Given the description of an element on the screen output the (x, y) to click on. 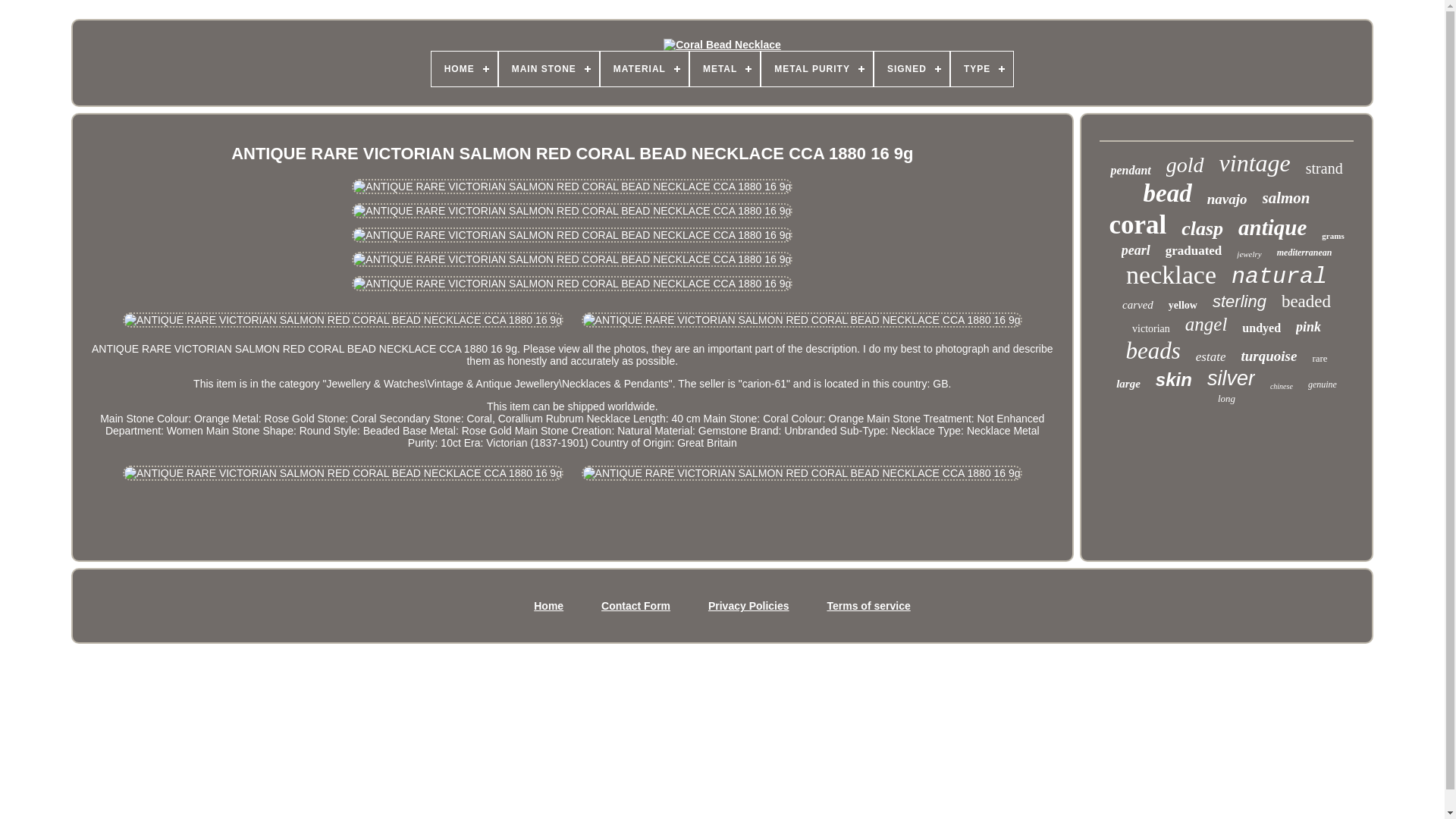
MATERIAL (643, 68)
